Given the description of an element on the screen output the (x, y) to click on. 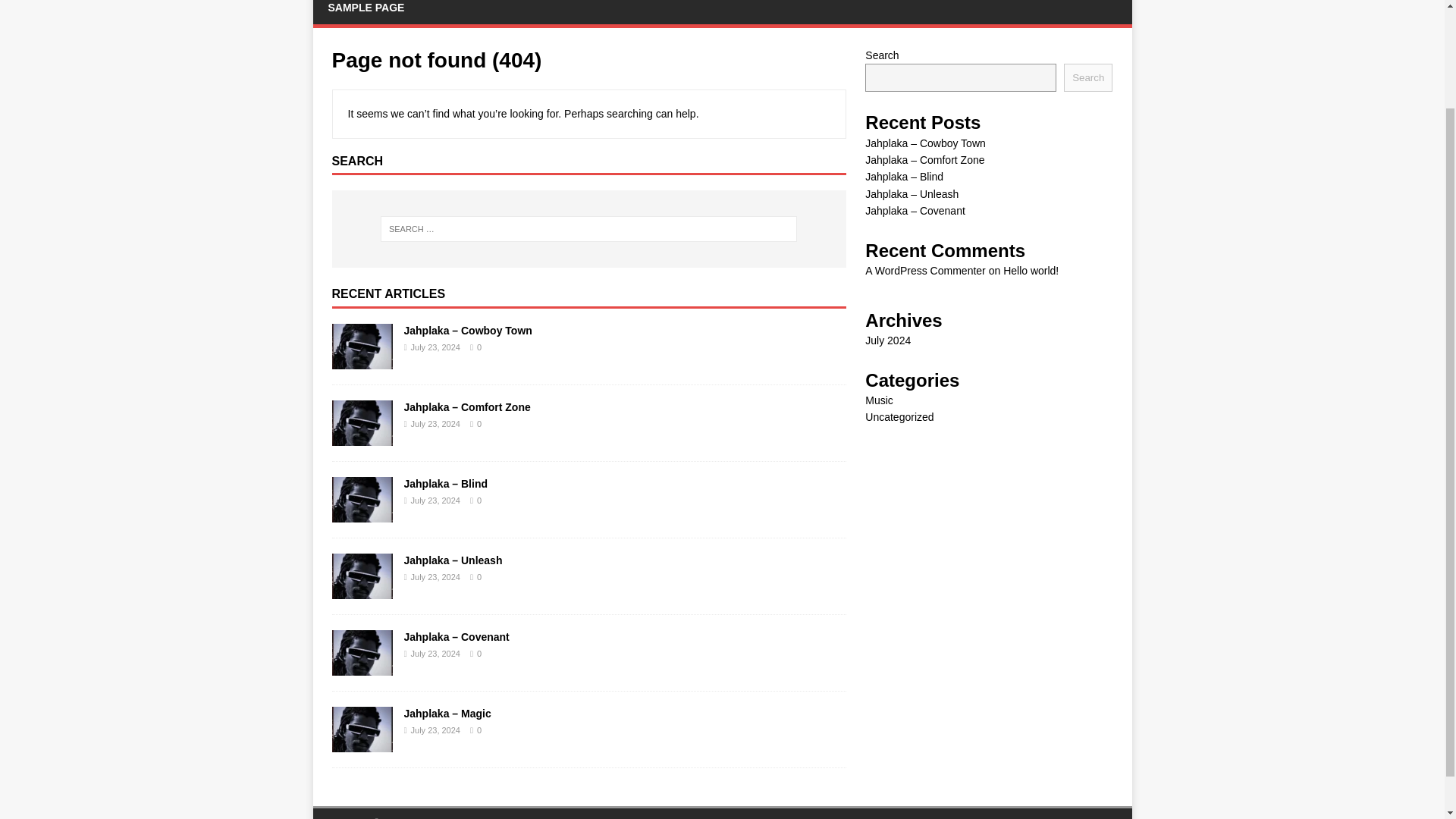
July 2024 (887, 340)
Hello world! (1030, 270)
Uncategorized (898, 417)
Music (878, 399)
A WordPress Commenter (924, 270)
Search (1088, 77)
SAMPLE PAGE (366, 11)
